Given the description of an element on the screen output the (x, y) to click on. 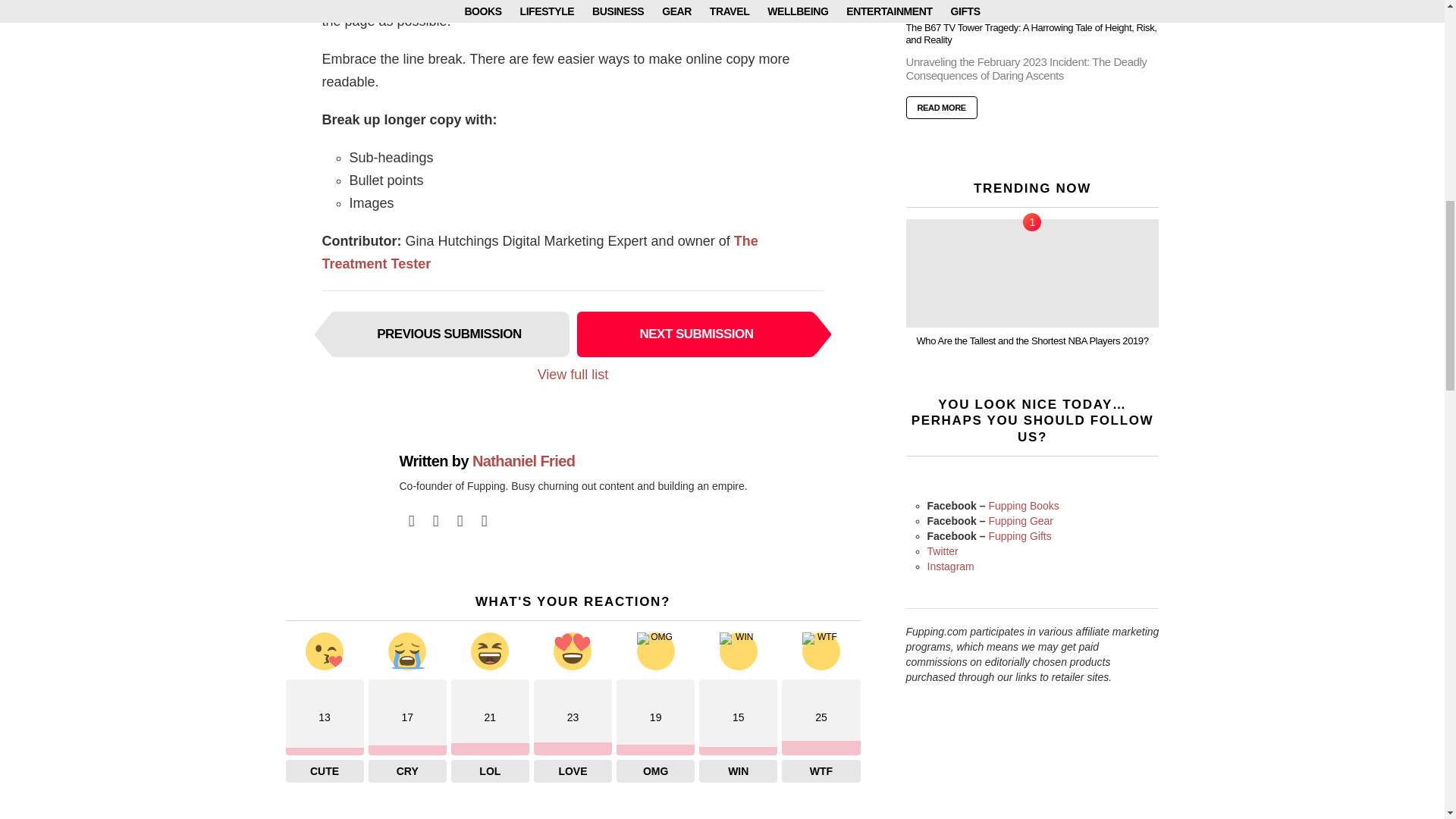
NEXT SUBMISSION (695, 334)
Who Are the Tallest and the Shortest NBA Players 2019? (1031, 273)
The Treatment Tester (539, 252)
PREVIOUS SUBMISSION (449, 334)
View full list (572, 374)
